Given the description of an element on the screen output the (x, y) to click on. 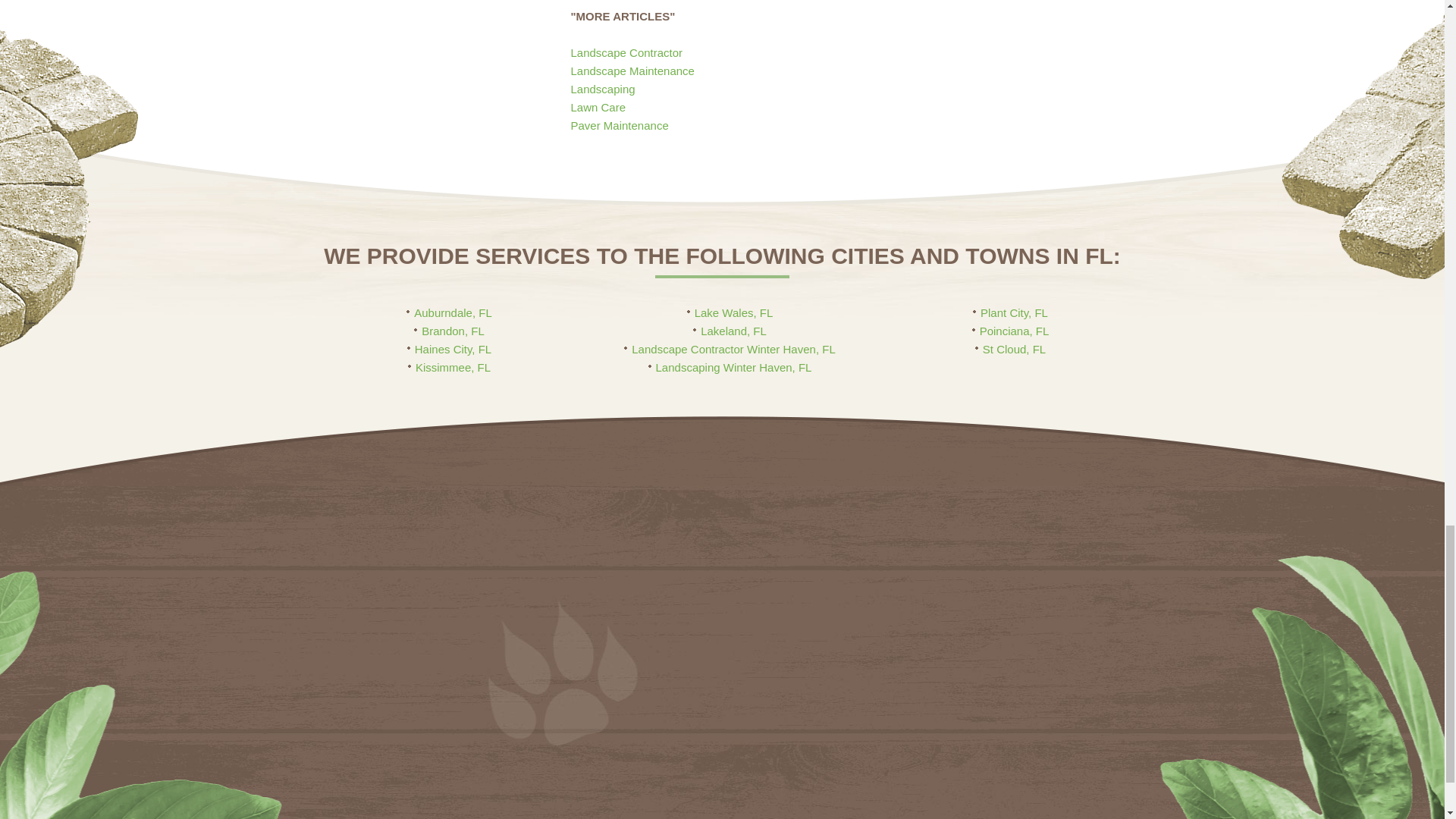
Brandon, FL (448, 330)
Lake Wales, FL (730, 312)
Lakeland, FL (730, 330)
Haines City, FL (449, 349)
Landscaping (602, 88)
Kissimmee, FL (448, 367)
Landscaping Winter Haven, FL (729, 367)
Paver Maintenance (619, 124)
Landscape Maintenance (632, 70)
St Cloud, FL (1010, 349)
Lawn Care (598, 106)
Landscape Contractor Winter Haven, FL (729, 349)
Plant City, FL (1010, 312)
Landscape Contractor (626, 51)
